Given the description of an element on the screen output the (x, y) to click on. 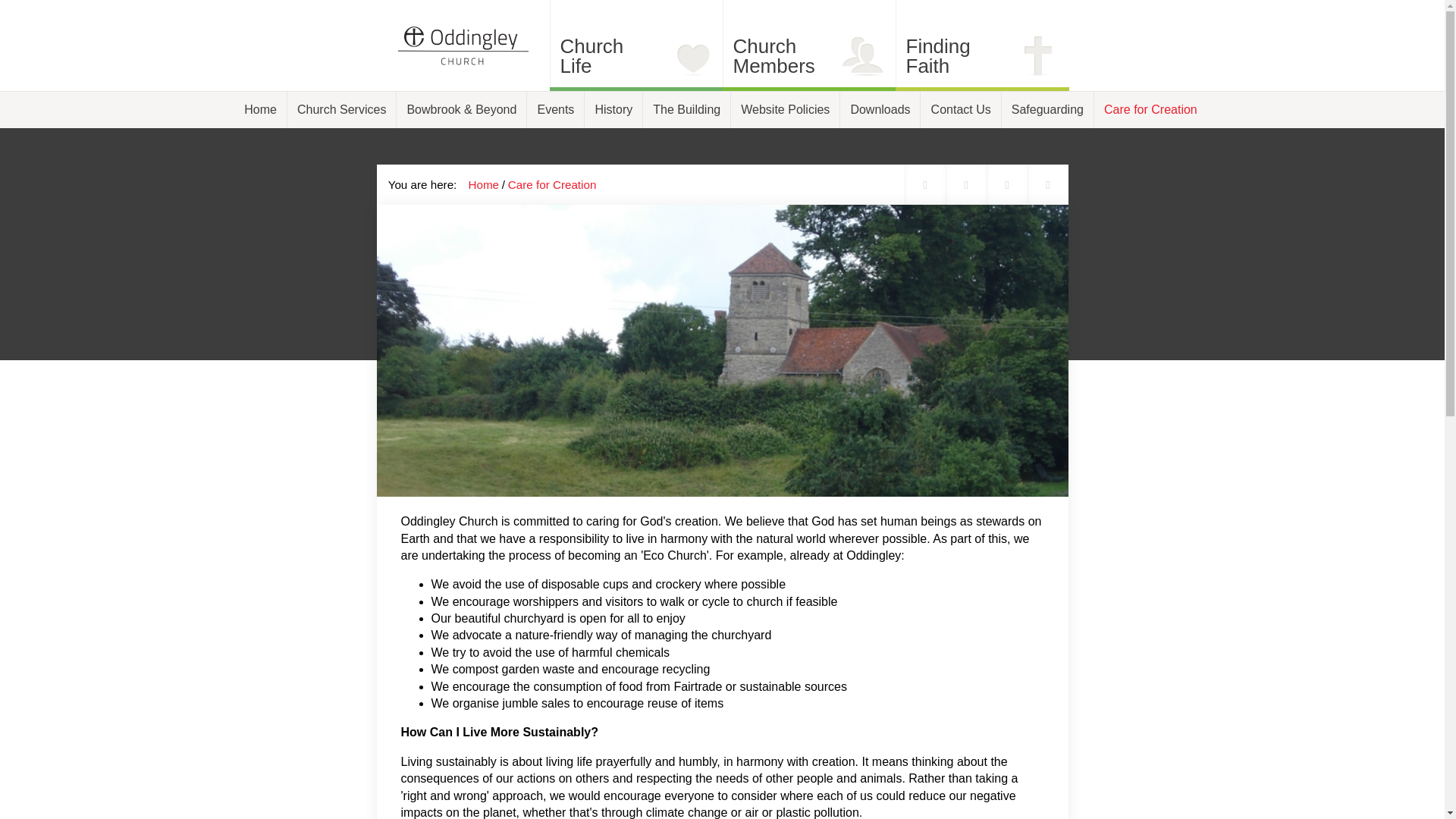
Home (483, 184)
Church Members (803, 56)
History (613, 109)
Care for Creation (630, 56)
Downloads (551, 184)
Contact Us (880, 109)
The Building (961, 109)
Safeguarding (686, 109)
